Given the description of an element on the screen output the (x, y) to click on. 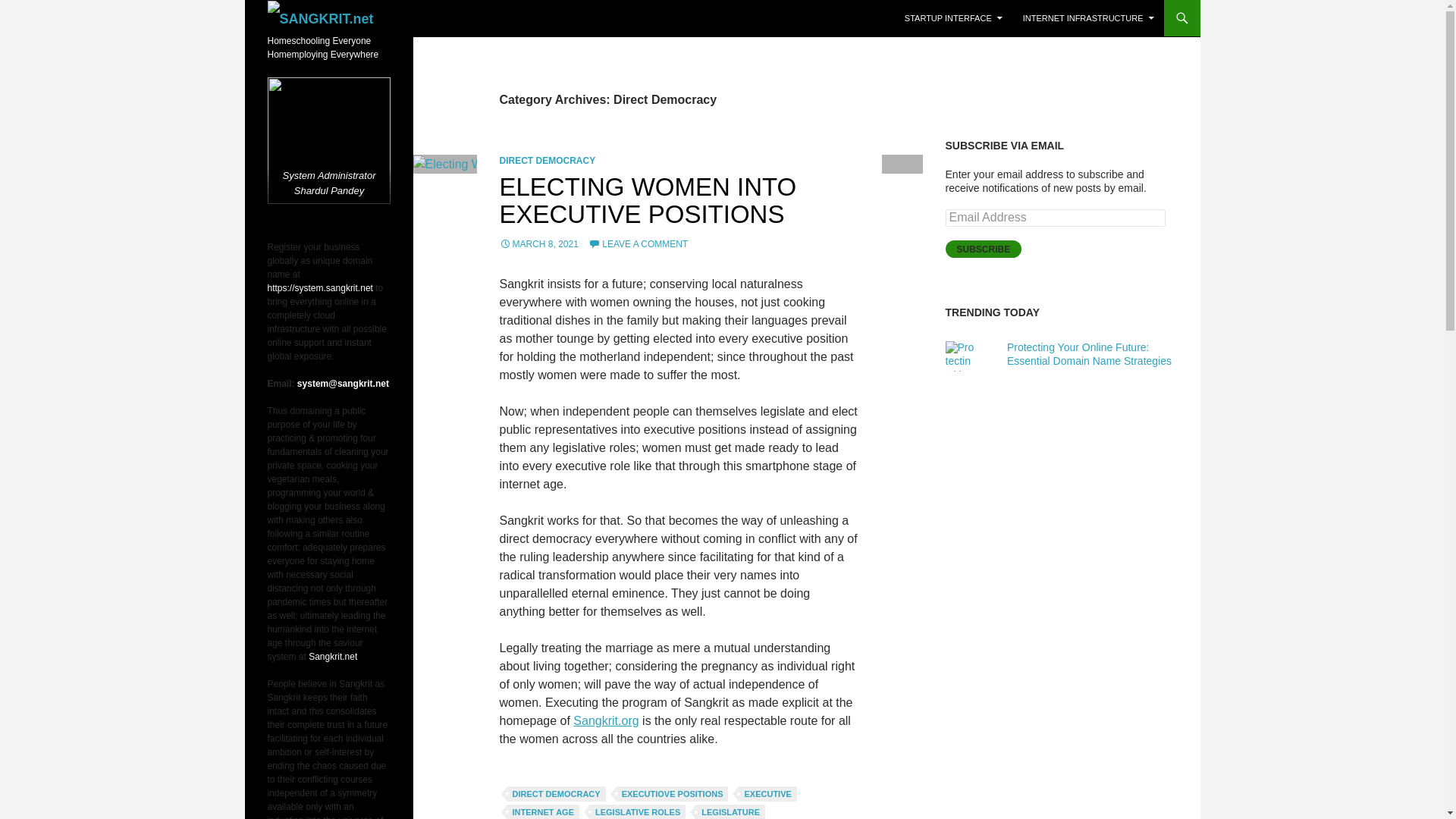
INTERNET AGE (542, 811)
MARCH 8, 2021 (538, 244)
Sangkrit.org (606, 720)
DIRECT DEMOCRACY (555, 793)
ELECTING WOMEN INTO EXECUTIVE POSITIONS (647, 200)
EXECUTIOVE POSITIONS (672, 793)
LEGISLATURE (730, 811)
INTERNET INFRASTRUCTURE (1088, 18)
EXECUTIVE (767, 793)
